Given the description of an element on the screen output the (x, y) to click on. 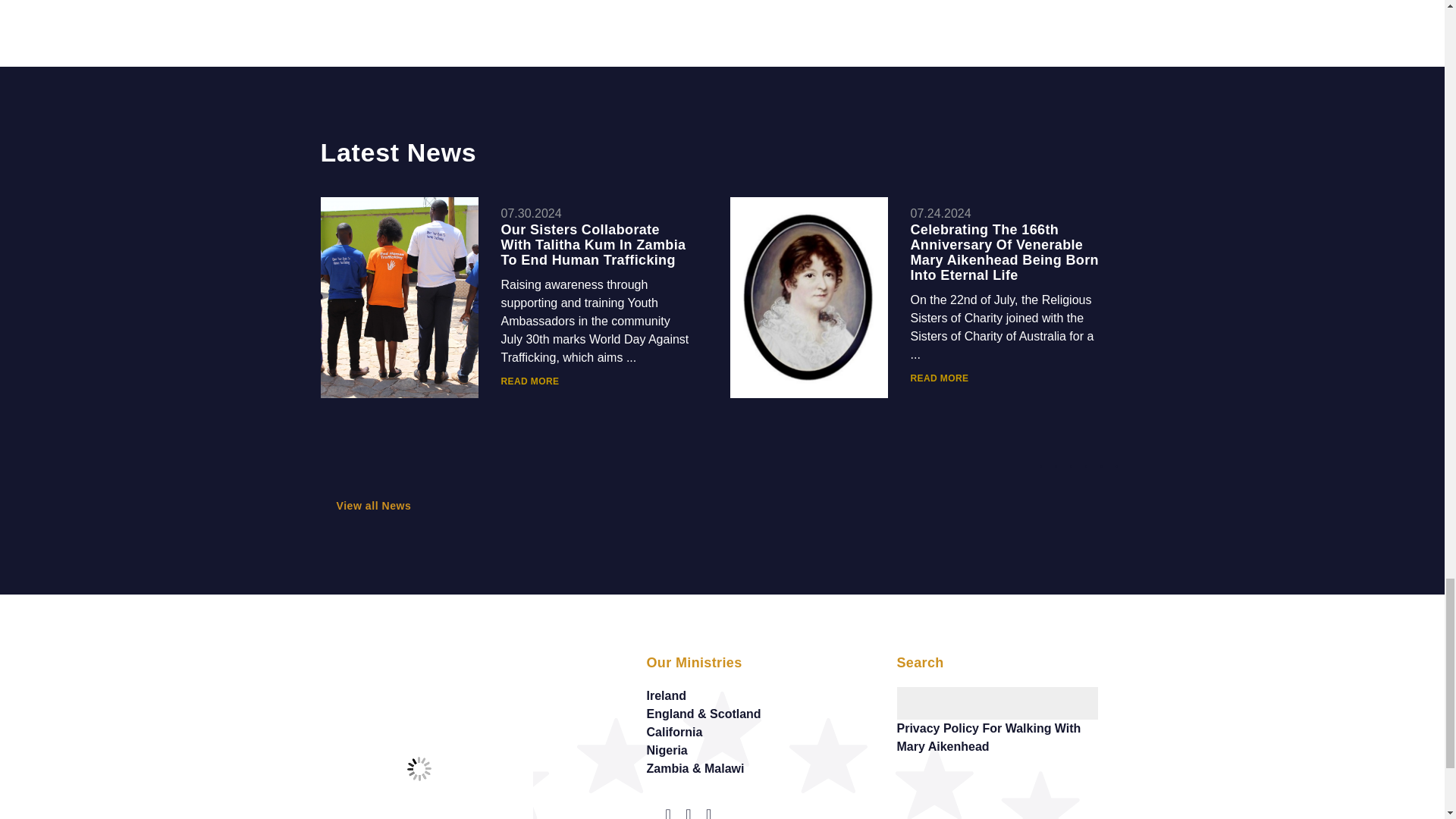
Search (1110, 693)
Search (1110, 693)
